Given the description of an element on the screen output the (x, y) to click on. 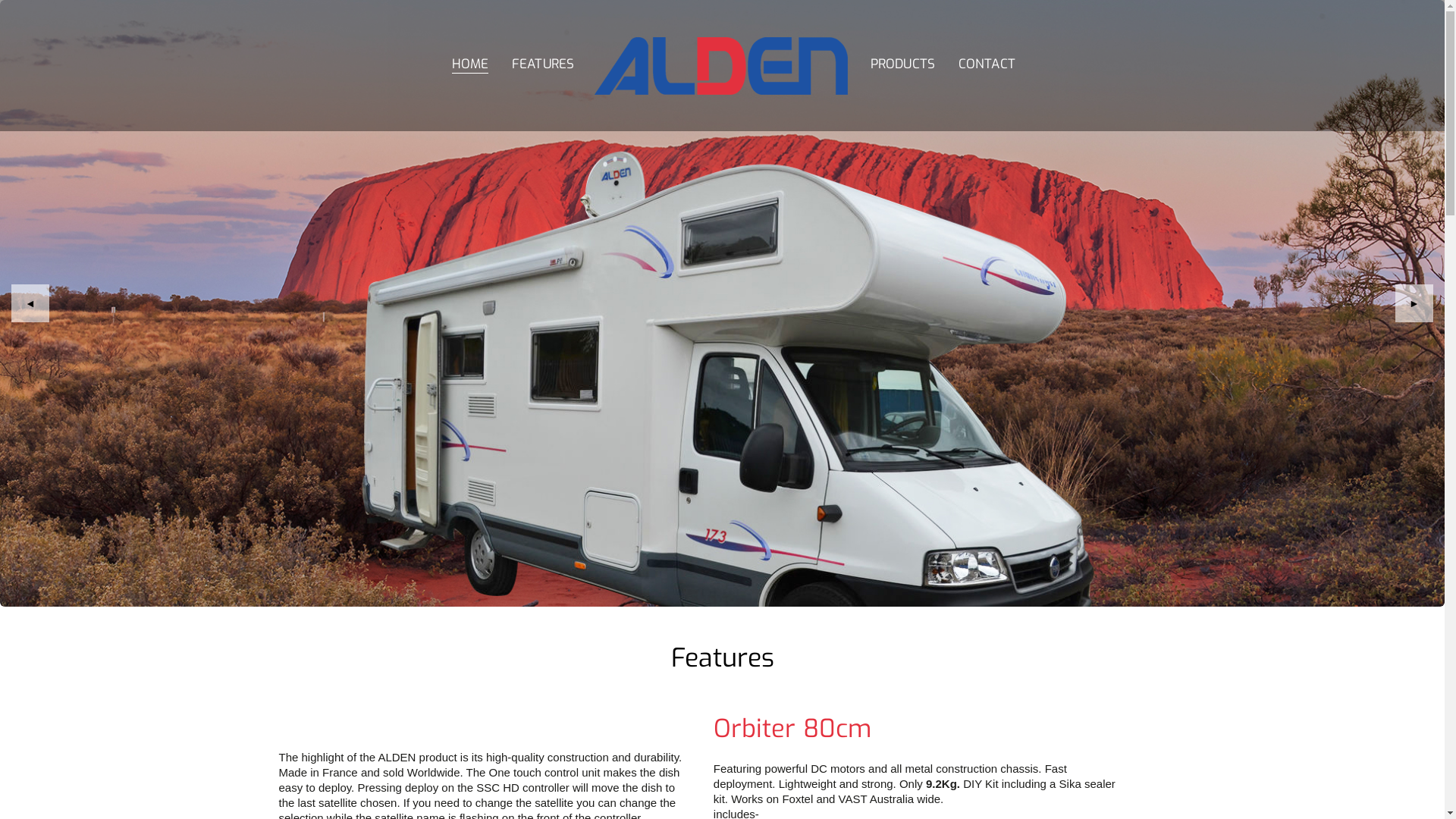
Alden Australia Element type: hover (722, 29)
HOME Element type: text (470, 64)
FEATURES Element type: text (542, 65)
PRODUCTS Element type: text (902, 65)
CONTACT Element type: text (986, 65)
Orbiter 80cm Element type: text (792, 728)
